Given the description of an element on the screen output the (x, y) to click on. 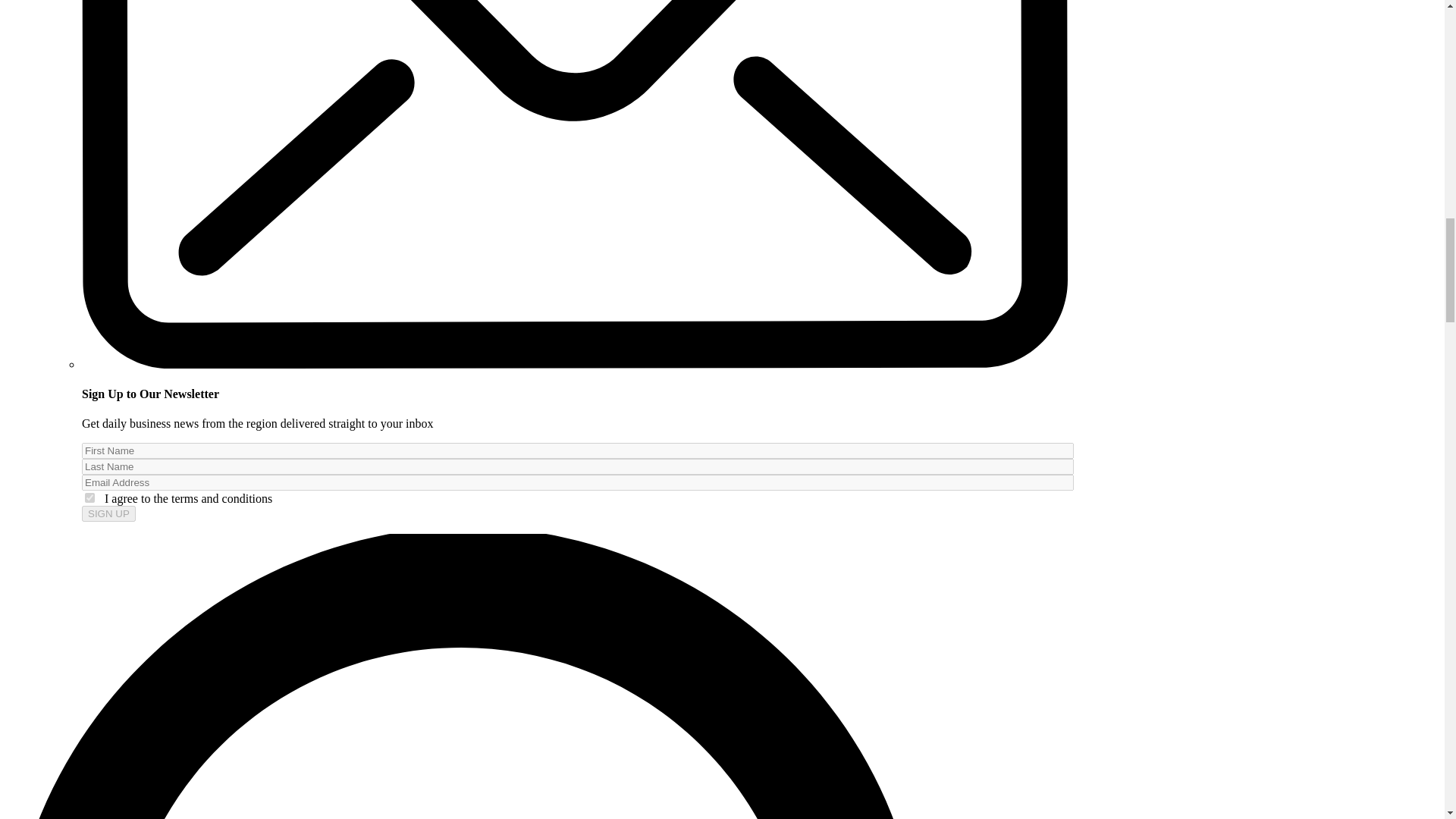
on (89, 497)
